Given the description of an element on the screen output the (x, y) to click on. 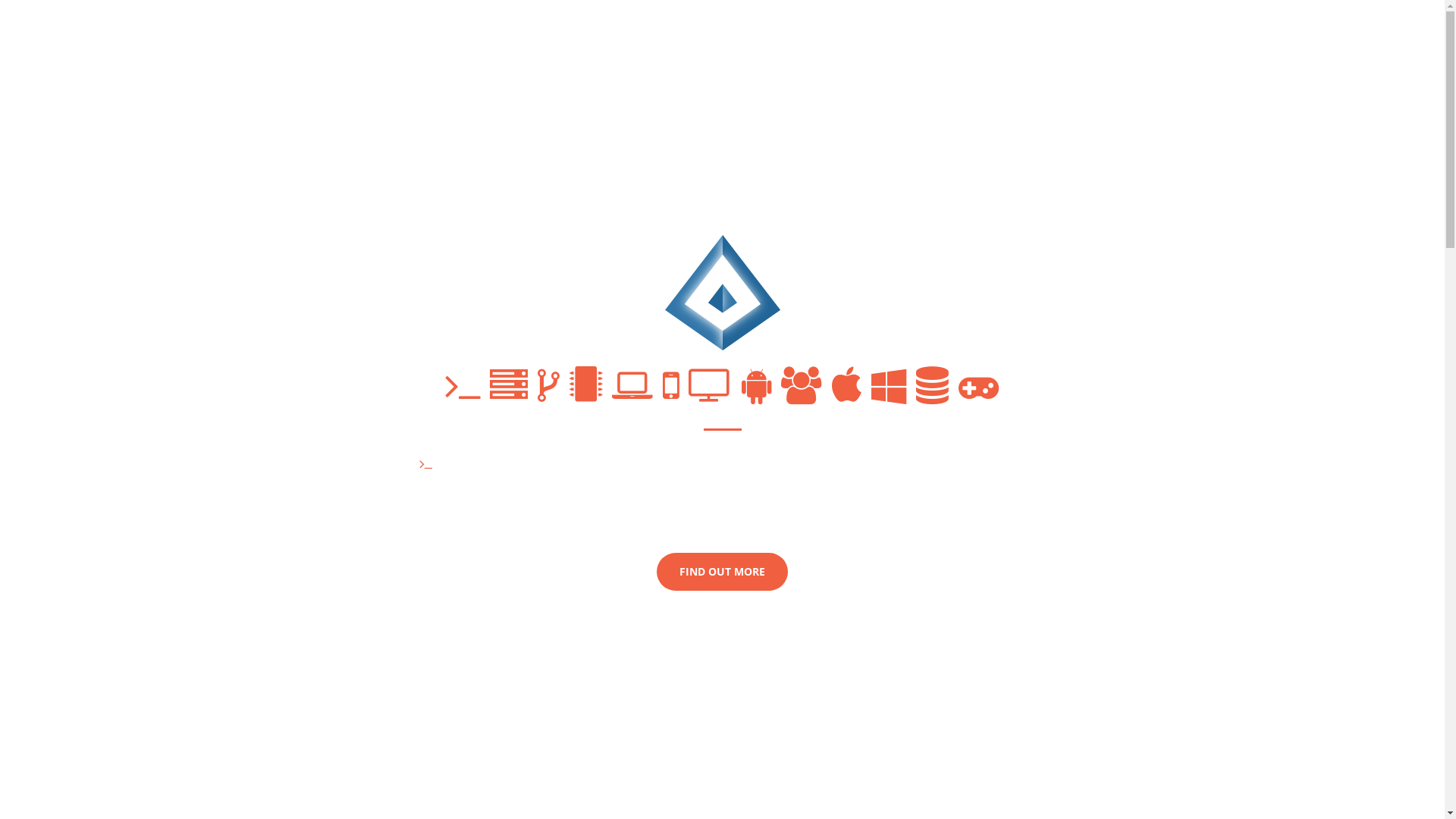
Quickstart Element type: text (531, 504)
Amazing Projects Element type: text (640, 463)
FIND OUT MORE Element type: text (721, 571)
